Given the description of an element on the screen output the (x, y) to click on. 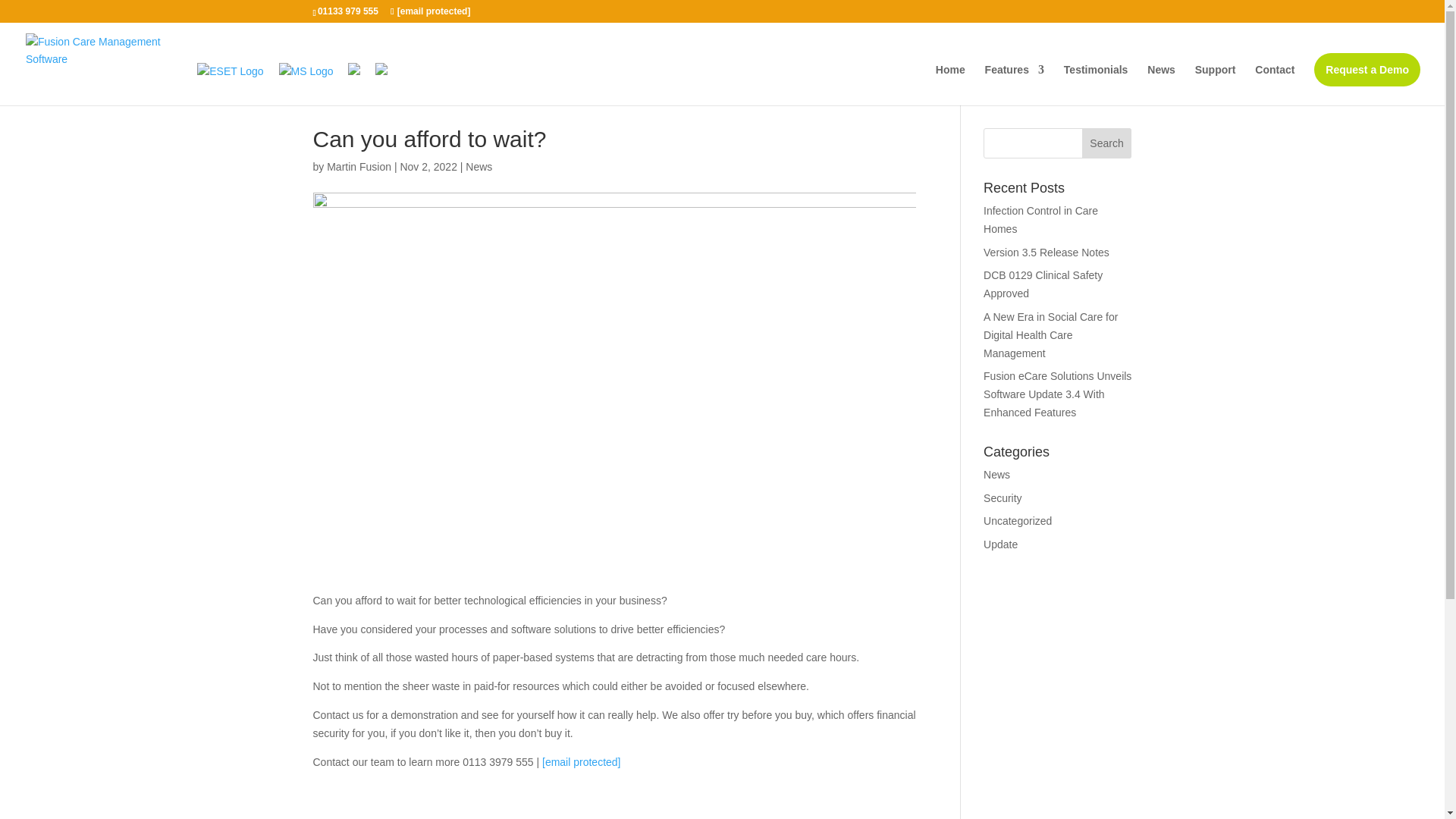
Contact (1274, 84)
News (997, 474)
Search (1106, 142)
Security (1003, 498)
Uncategorized (1017, 521)
Support (1215, 84)
Update (1000, 544)
Features (1014, 84)
Version 3.5 Release Notes (1046, 252)
Infection Control in Care Homes (1040, 219)
DCB 0129 Clinical Safety Approved (1043, 284)
A New Era in Social Care for Digital Health Care Management (1051, 335)
Testimonials (1096, 84)
Martin Fusion (358, 166)
